Given the description of an element on the screen output the (x, y) to click on. 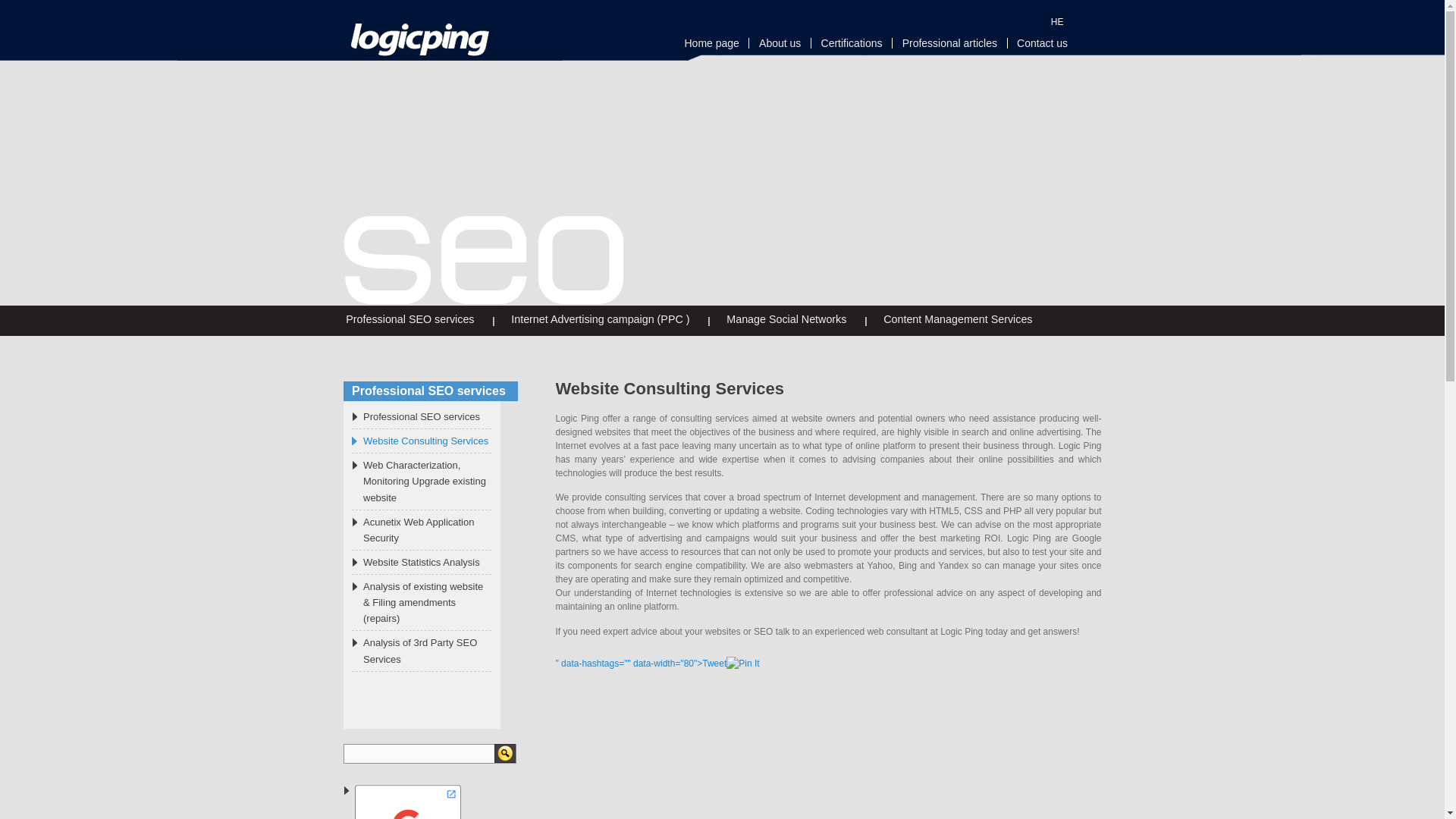
Website Statistics Analysis (416, 562)
About us (778, 42)
Website Consulting Services (419, 440)
Pin It (742, 663)
Content Management Services (957, 318)
Professional articles (948, 42)
Analysis of 3rd Party SEO Services (422, 650)
Manage Social Networks (786, 318)
Logic Ping (418, 50)
Logic Ping (418, 37)
